Given the description of an element on the screen output the (x, y) to click on. 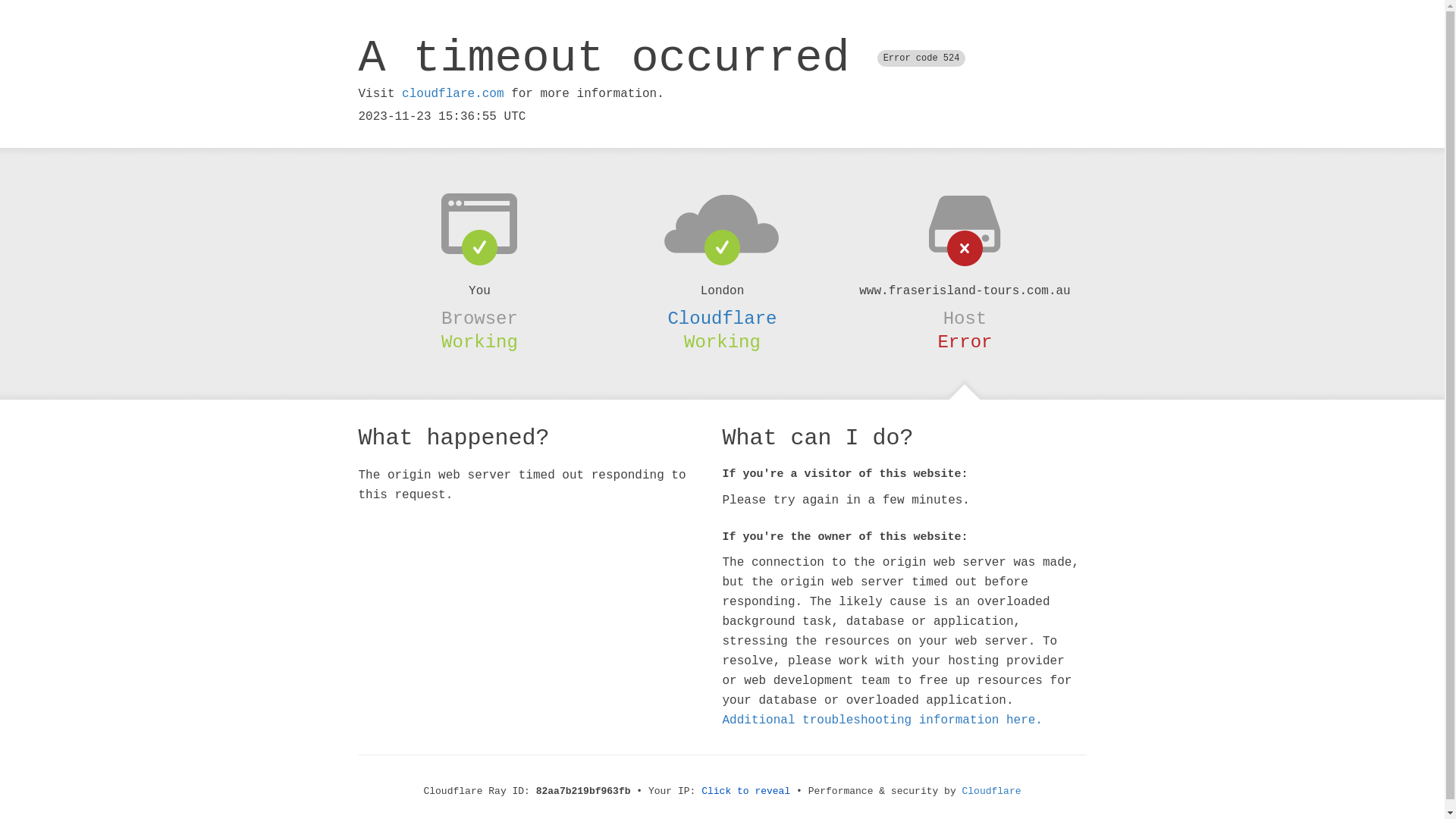
Cloudflare Element type: text (991, 791)
cloudflare.com Element type: text (452, 93)
Cloudflare Element type: text (721, 318)
Additional troubleshooting information here. Element type: text (881, 720)
Click to reveal Element type: text (745, 791)
